Given the description of an element on the screen output the (x, y) to click on. 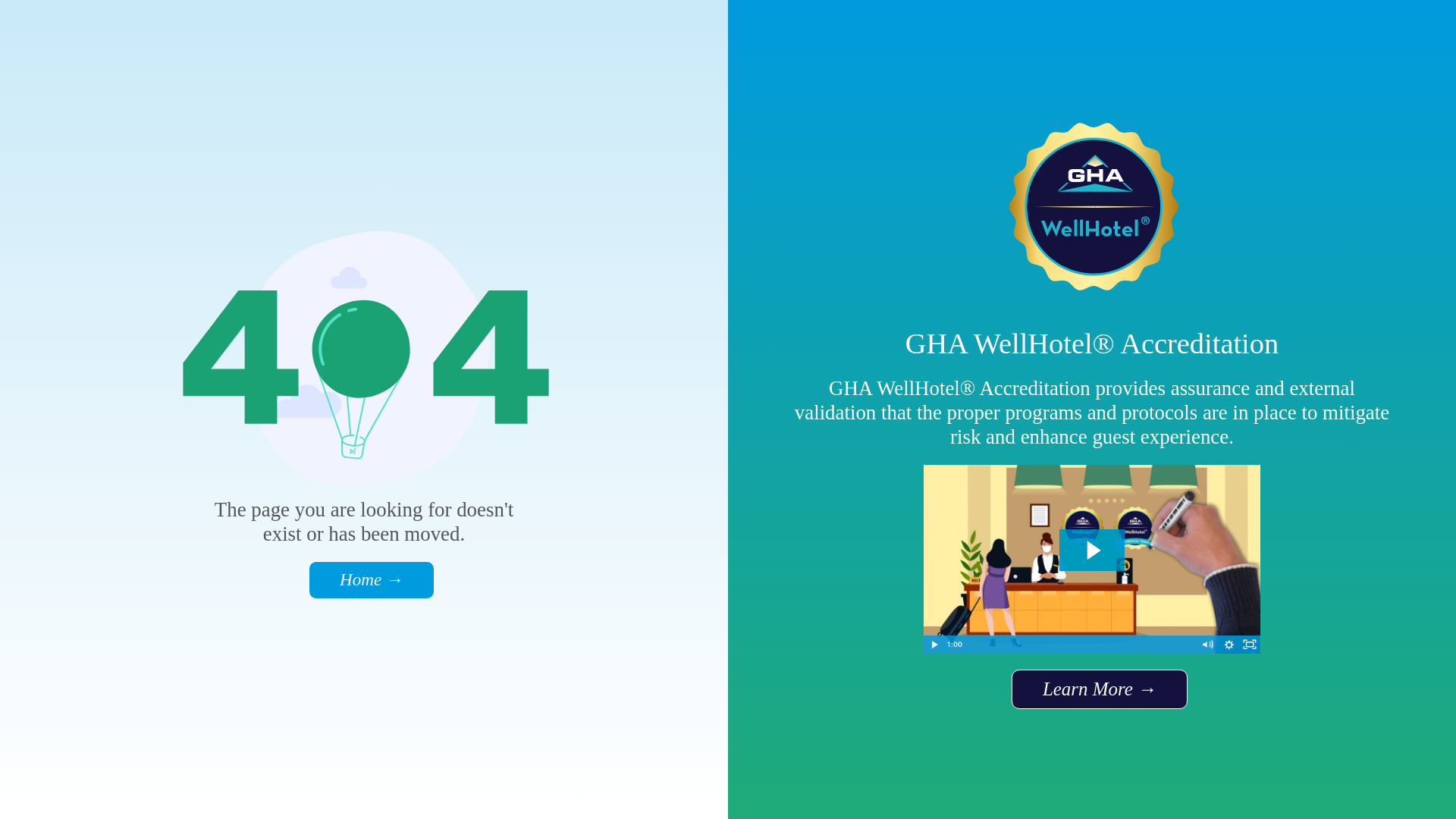
Show settings menu (1228, 644)
